Given the description of an element on the screen output the (x, y) to click on. 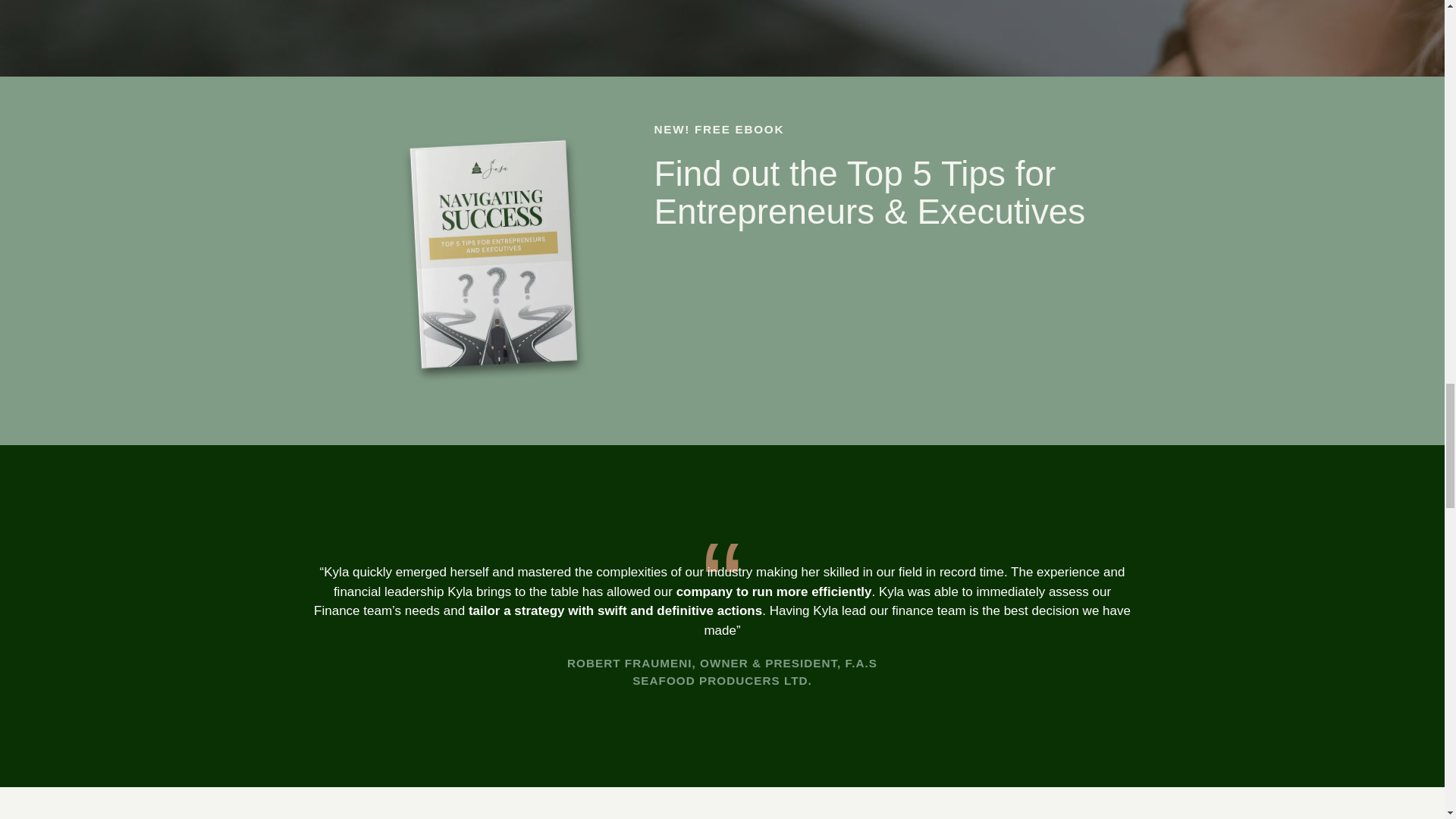
Form 0 (873, 323)
